Given the description of an element on the screen output the (x, y) to click on. 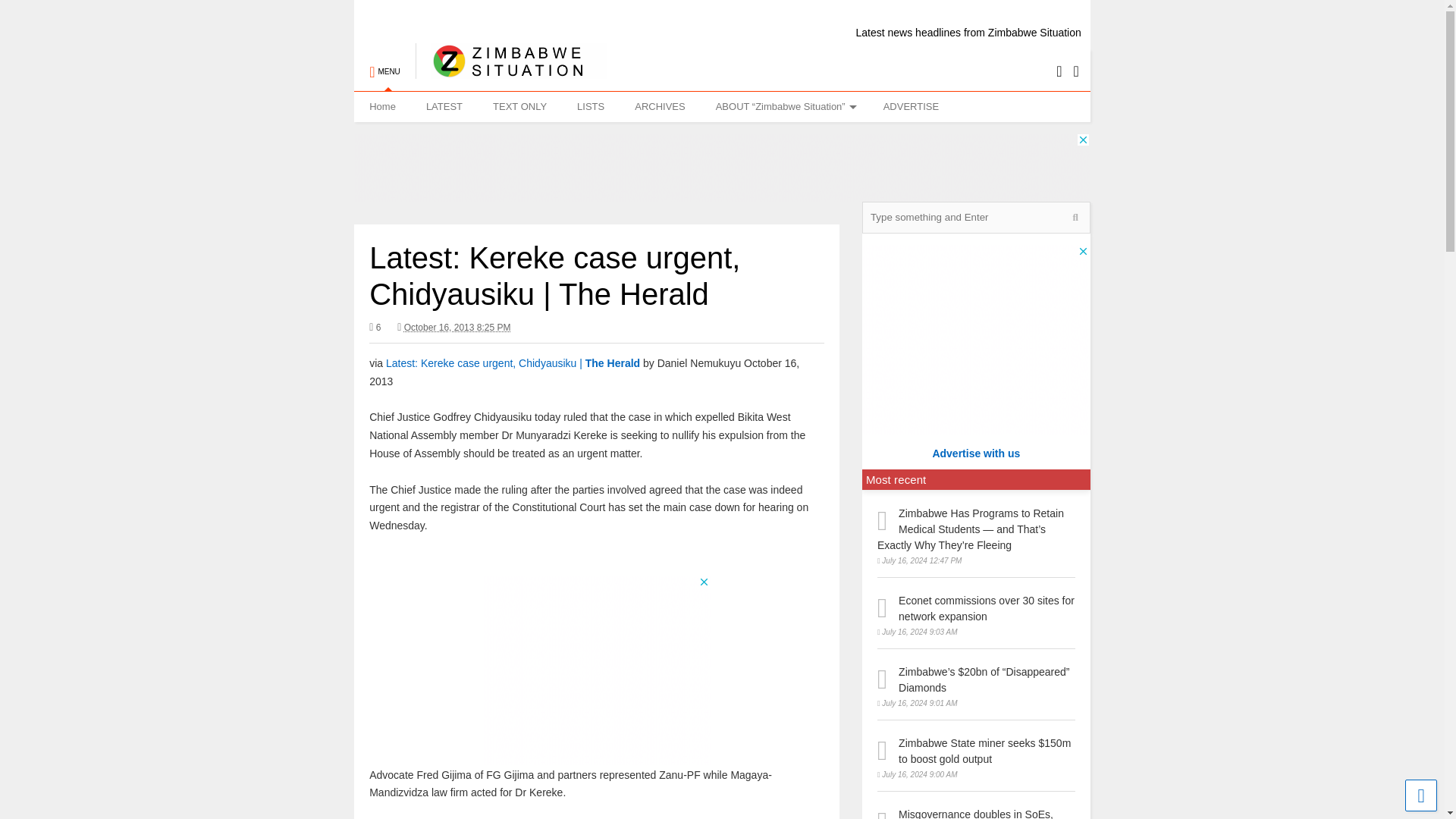
3rd party ad content (721, 167)
October 16, 2013 10:21 PM (457, 327)
Home (381, 106)
TEXT ONLY (519, 106)
October 16, 2013 8:25 PM (454, 327)
Zimbabwe Situation (510, 71)
LISTS (591, 106)
LATEST (443, 106)
3rd party ad content (975, 339)
3rd party ad content (596, 669)
ADVERTISE (910, 106)
ARCHIVES (660, 106)
MENU (383, 65)
